Given the description of an element on the screen output the (x, y) to click on. 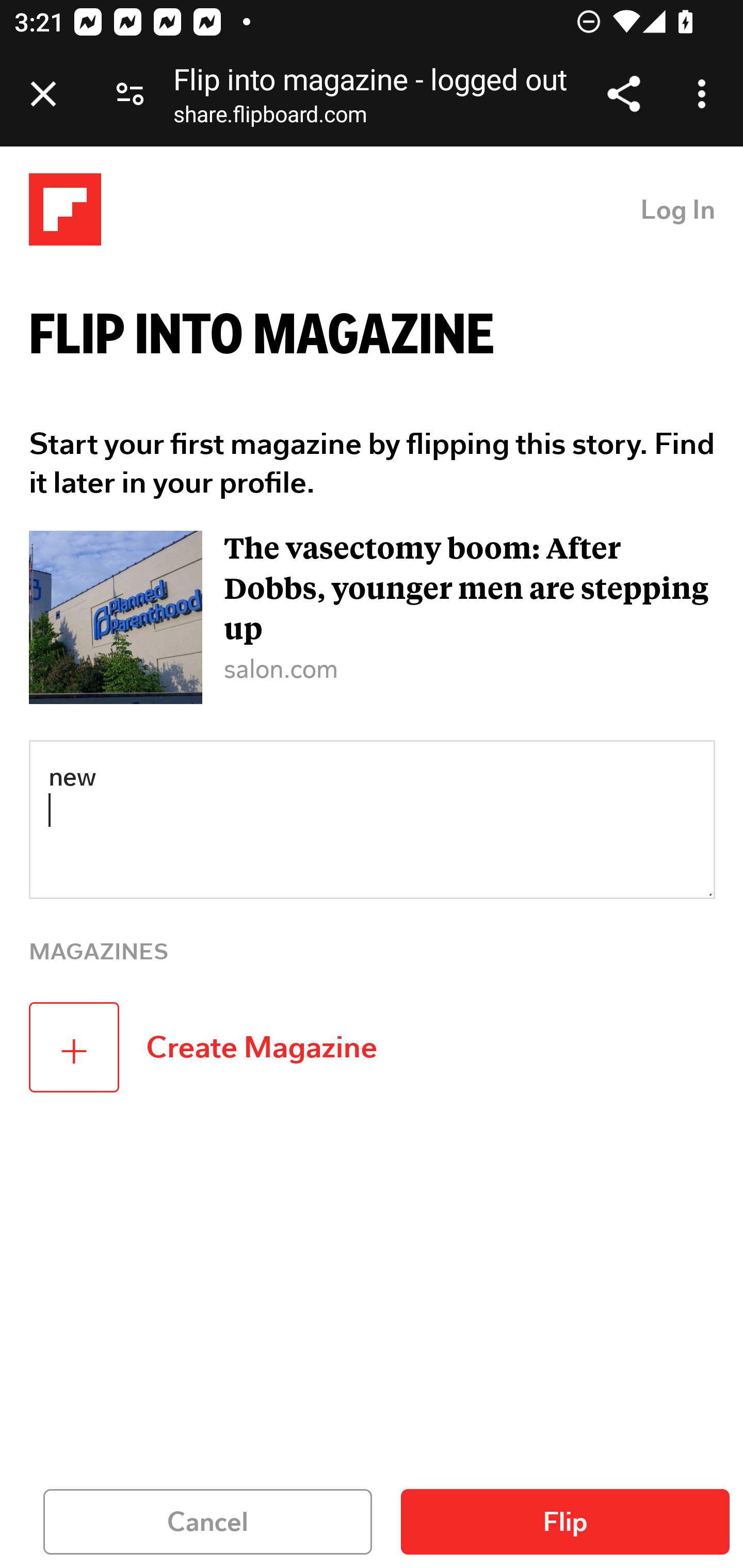
Close tab (43, 93)
Share link address (623, 93)
Customize and control Google Chrome (705, 93)
Connection is secure (129, 93)
share.flipboard.com (270, 117)
new
 (372, 819)
Cancel (208, 1521)
Flip (566, 1521)
